Given the description of an element on the screen output the (x, y) to click on. 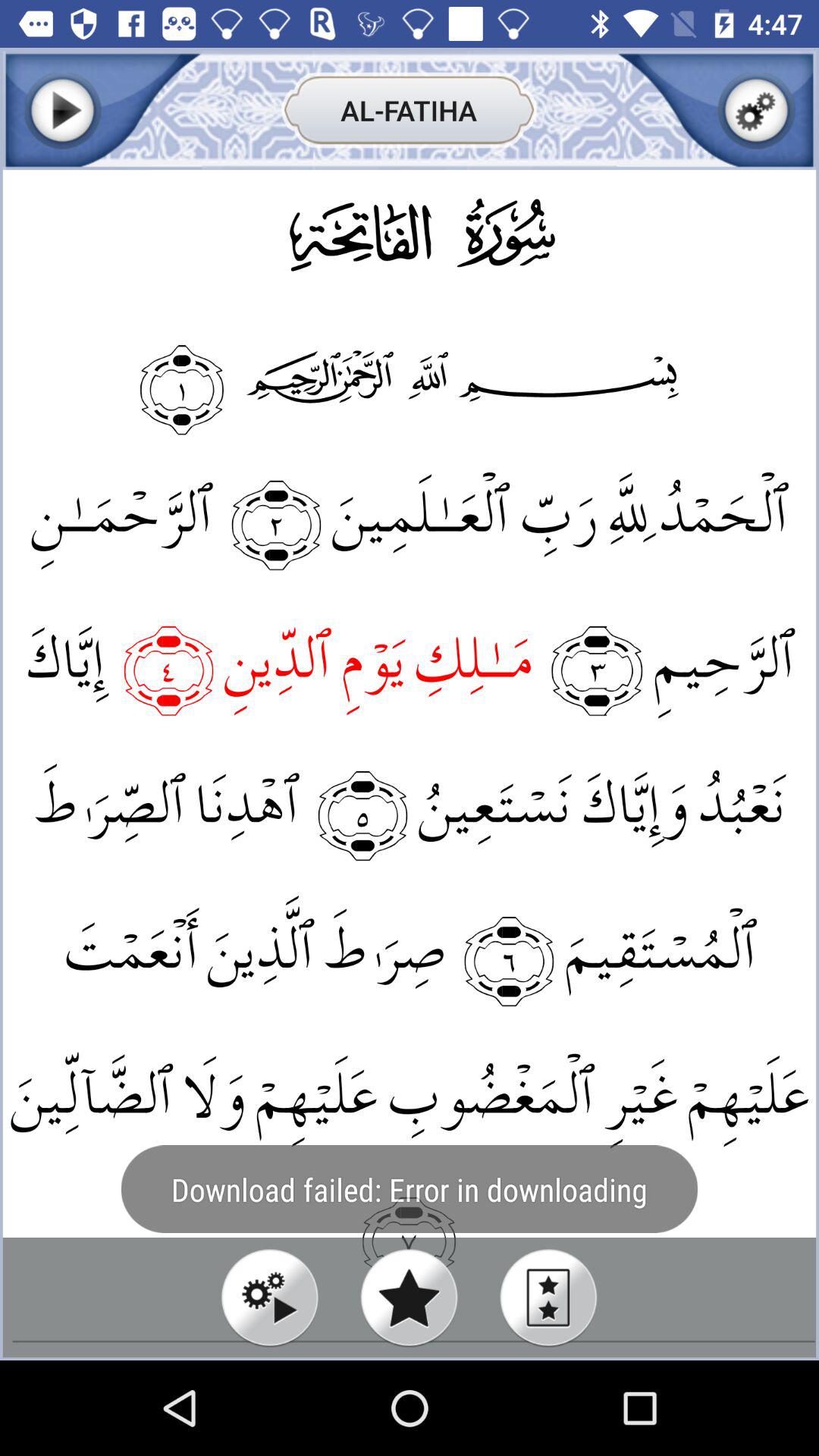
bottom of page icon to left of start (269, 1297)
